Given the description of an element on the screen output the (x, y) to click on. 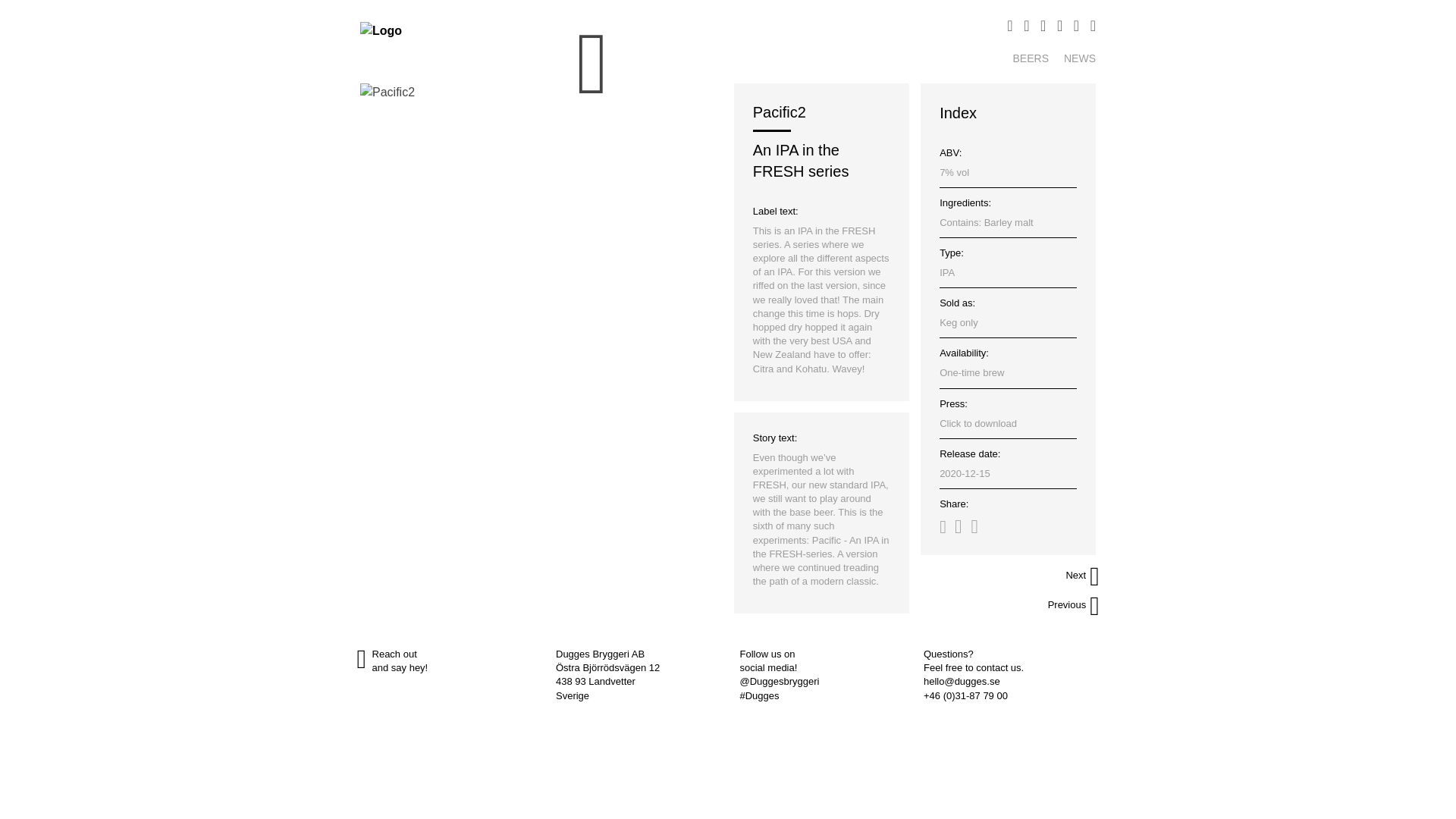
Click to download (1008, 423)
Next (1075, 576)
BEERS (1030, 58)
Calle's (1075, 606)
Space Age Nectar (1075, 576)
Previous (1075, 606)
NEWS (1080, 58)
